Given the description of an element on the screen output the (x, y) to click on. 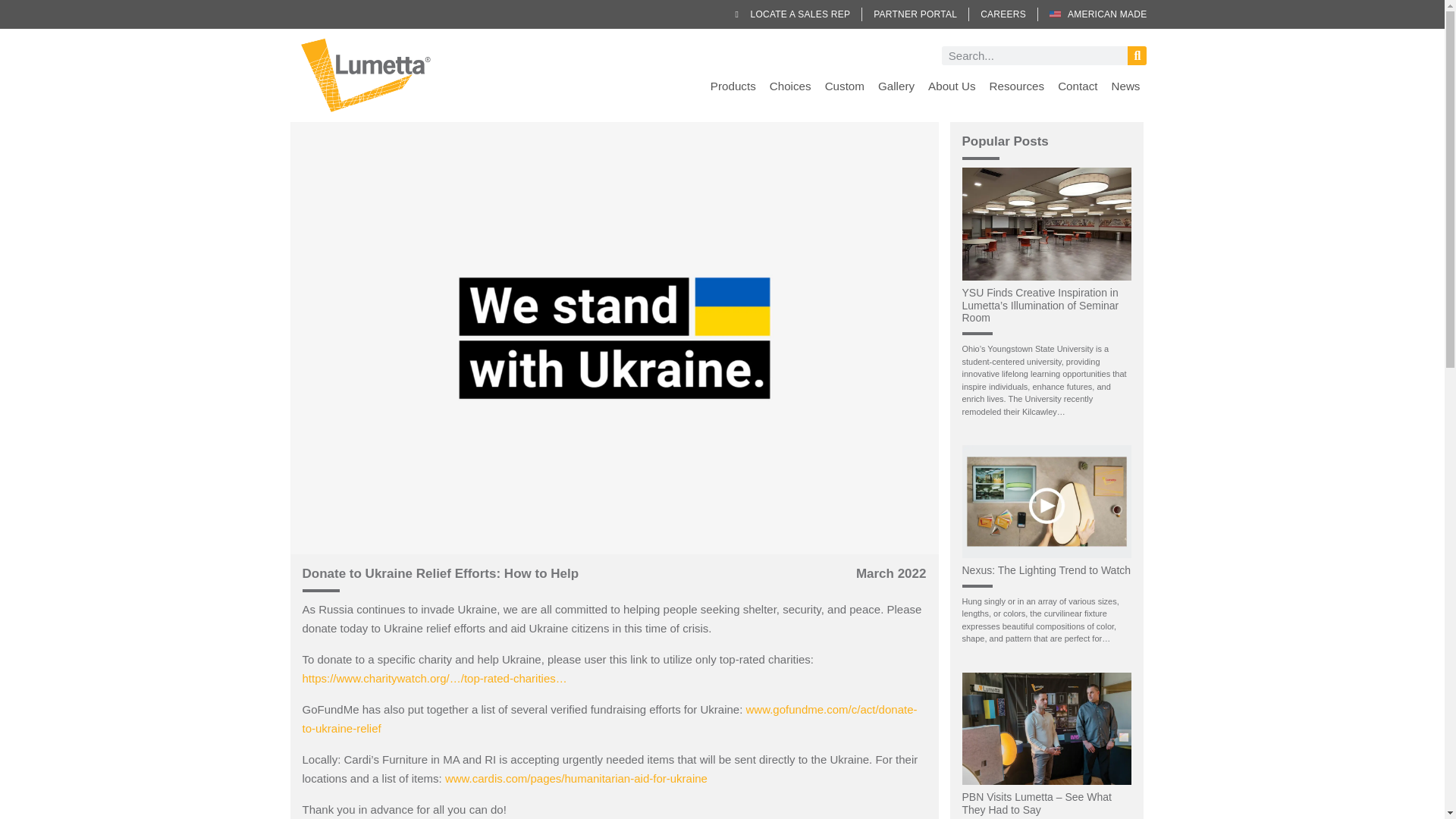
Resources (1016, 86)
News (1125, 86)
Contact (1077, 86)
Choices (790, 86)
Gallery (895, 86)
About Us (951, 86)
PARTNER PORTAL (914, 14)
LOCATE A SALES REP (792, 14)
Custom (844, 86)
Products (732, 86)
CAREERS (1002, 14)
Nexus: The Lighting Trend to Watch (1045, 570)
